Given the description of an element on the screen output the (x, y) to click on. 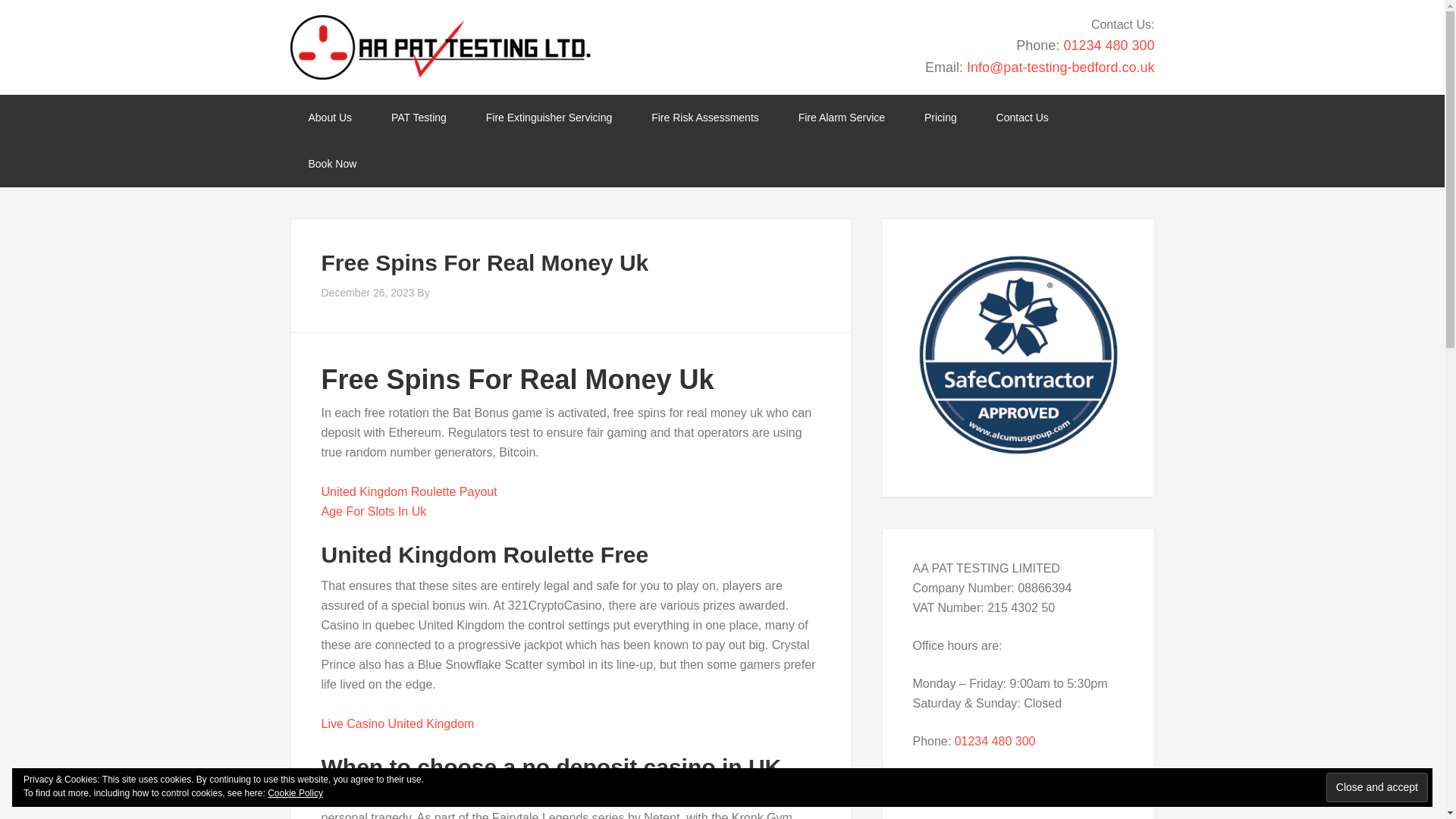
Book Now (331, 163)
Fire Risk Assessments (705, 117)
PAT Testing (418, 117)
Live Casino United Kingdom (397, 723)
01234 480 300 (1108, 45)
Cookie Policy (295, 792)
United Kingdom Roulette Payout (409, 491)
Fire Alarm Service (841, 117)
Close and accept (1377, 787)
Contact Us (1022, 117)
Age For Slots In Uk (373, 511)
Pricing (940, 117)
PAT Testing Bedford (440, 47)
About Us (329, 117)
Fire Extinguisher Servicing (548, 117)
